Given the description of an element on the screen output the (x, y) to click on. 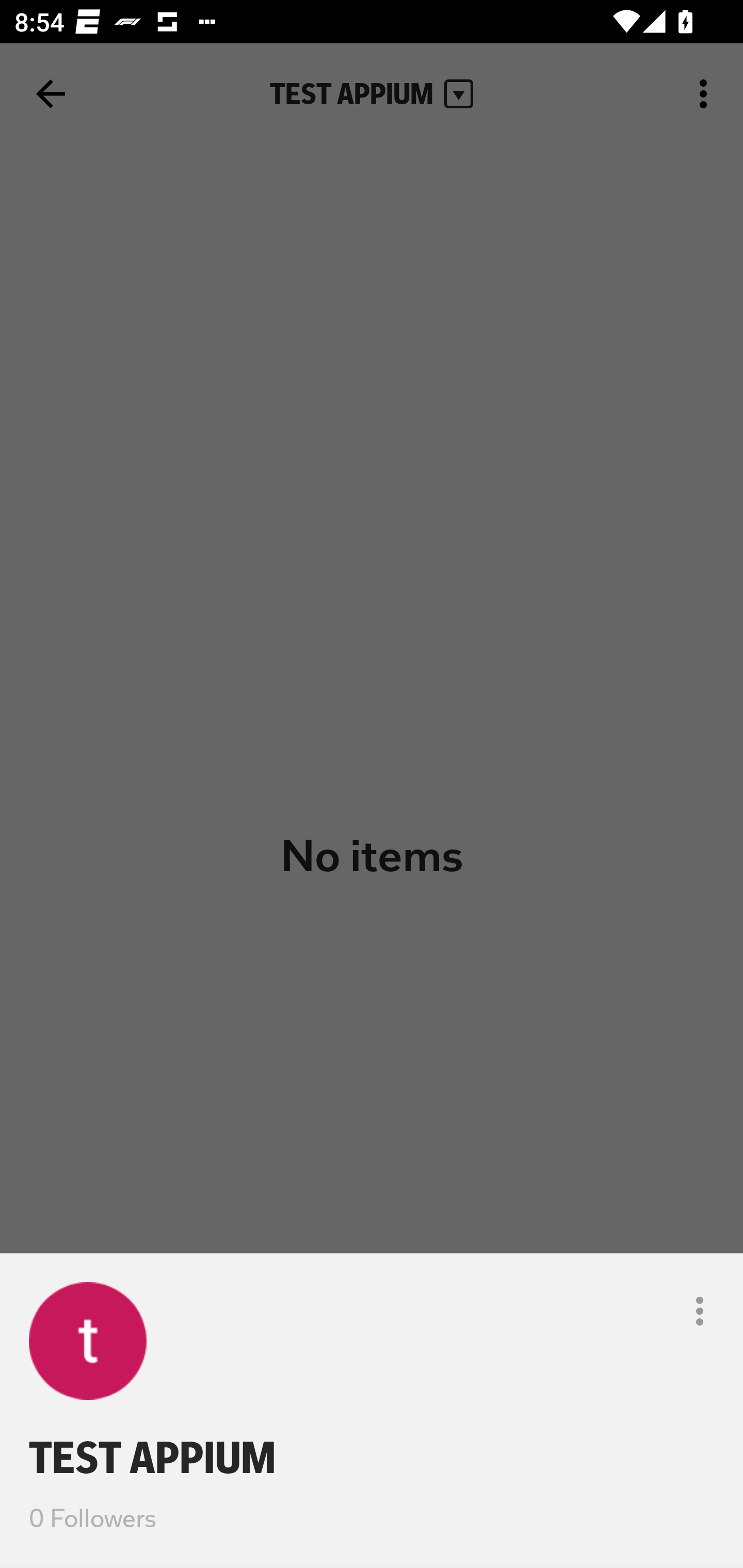
Options (699, 1311)
